Given the description of an element on the screen output the (x, y) to click on. 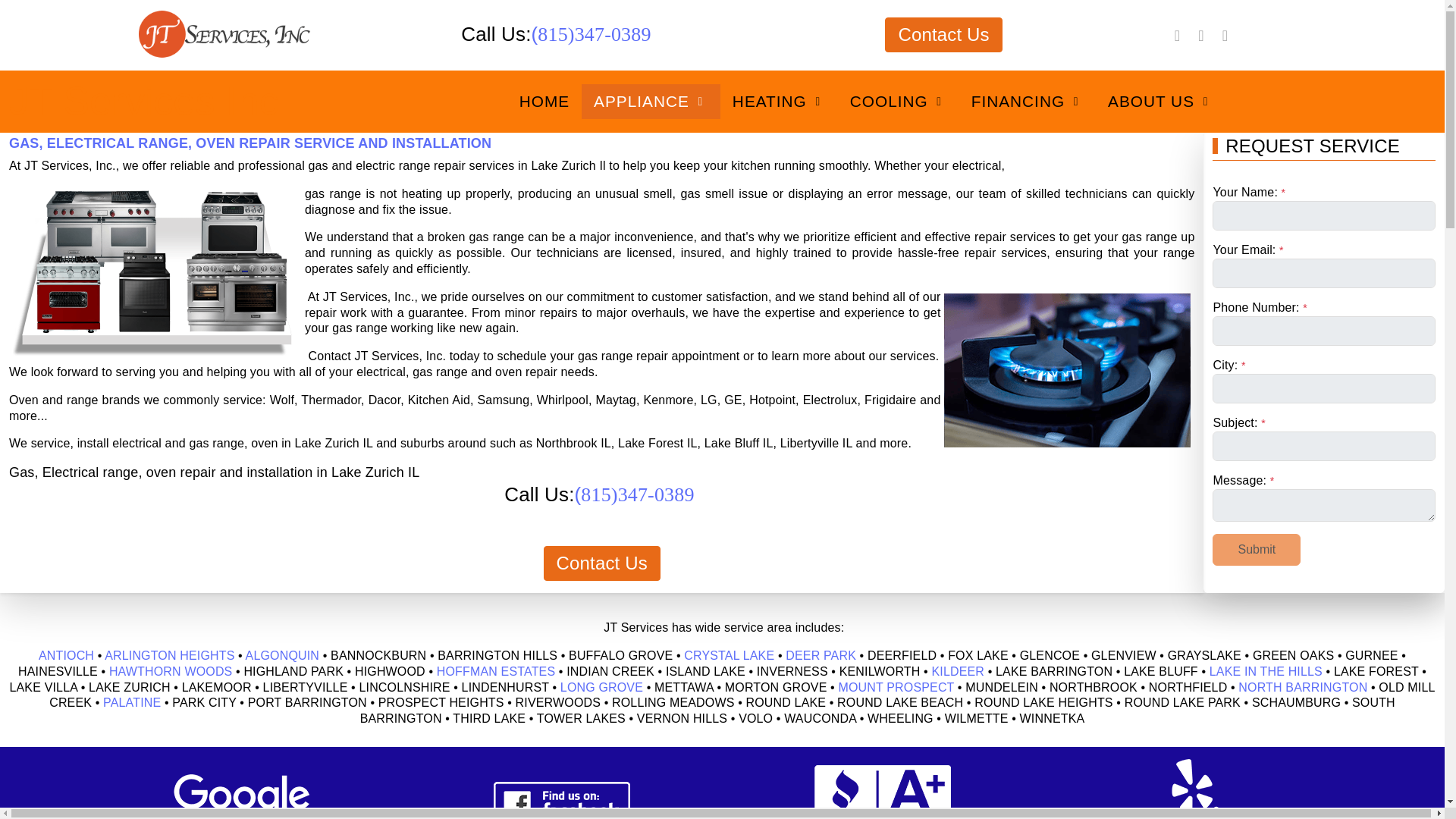
HOME (543, 100)
APPLIANCE (650, 100)
Contact Us (943, 34)
JT Services Inc (143, 101)
